Given the description of an element on the screen output the (x, y) to click on. 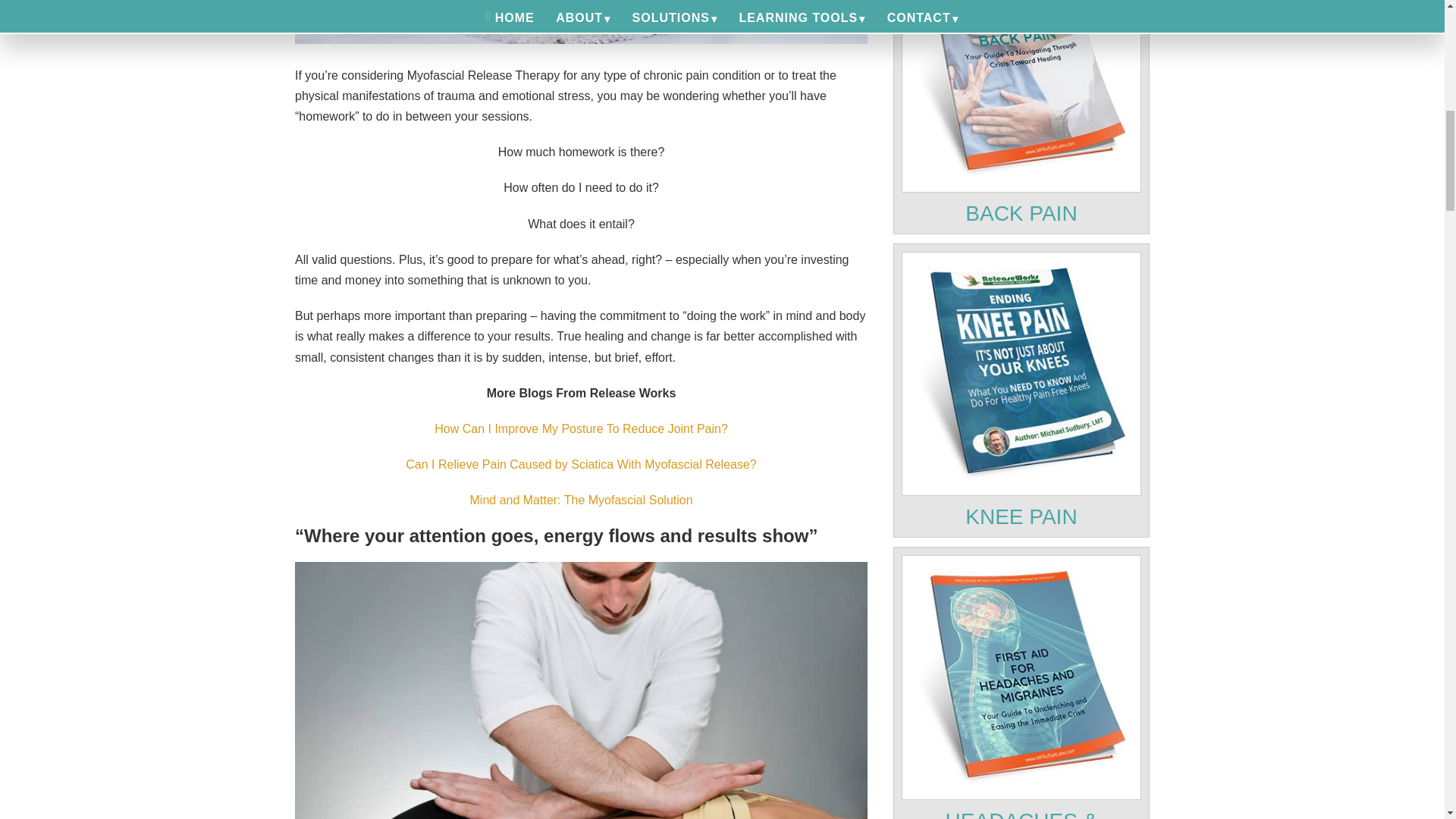
How Can I Improve My Posture To Reduce Joint Pain? (580, 428)
Mind and Matter: The Myofascial Solution (581, 499)
